Given the description of an element on the screen output the (x, y) to click on. 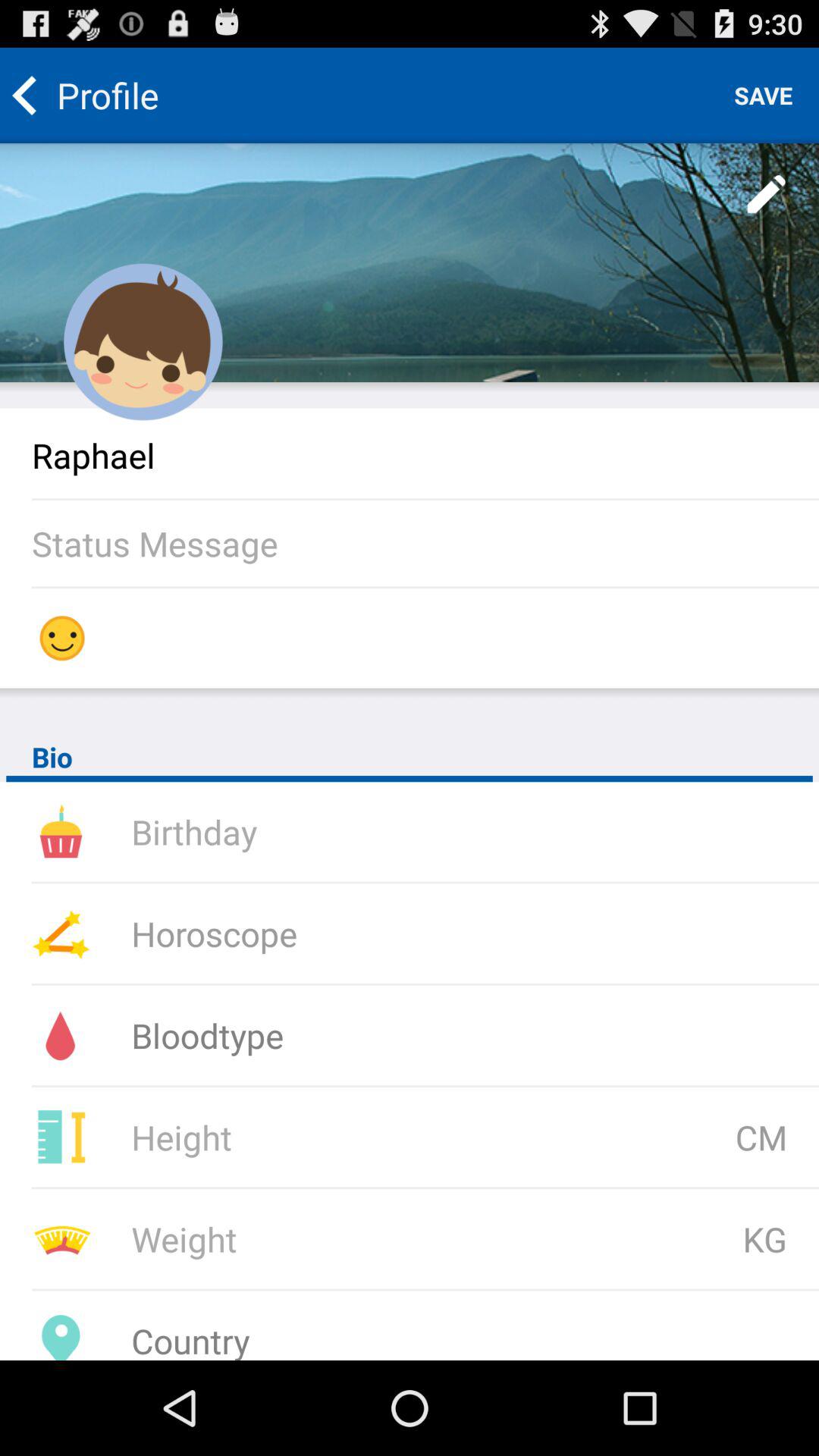
open status message (425, 543)
